Given the description of an element on the screen output the (x, y) to click on. 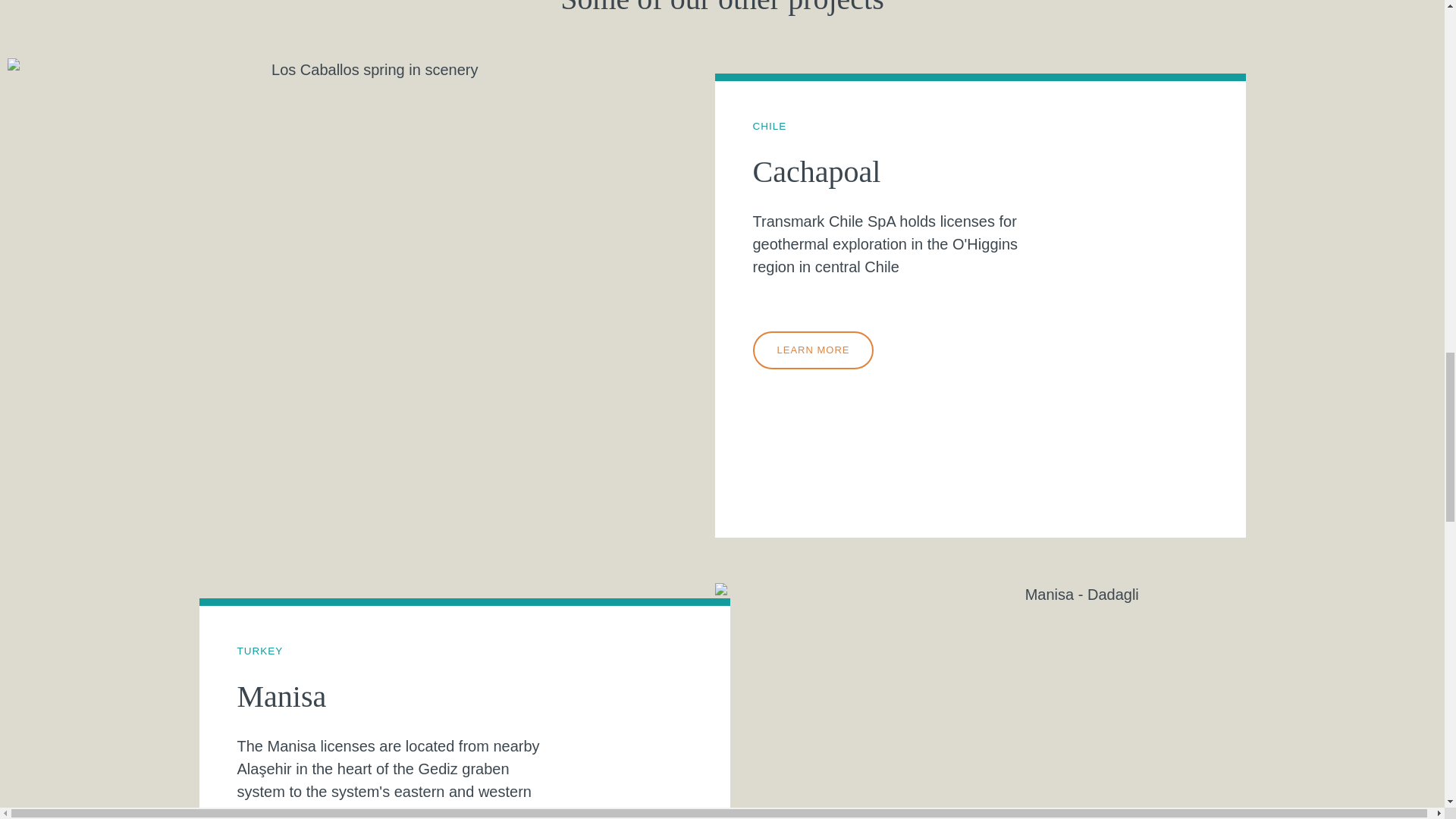
Learn more about ourCachapoal project (812, 350)
LEARN MORE (812, 350)
